Given the description of an element on the screen output the (x, y) to click on. 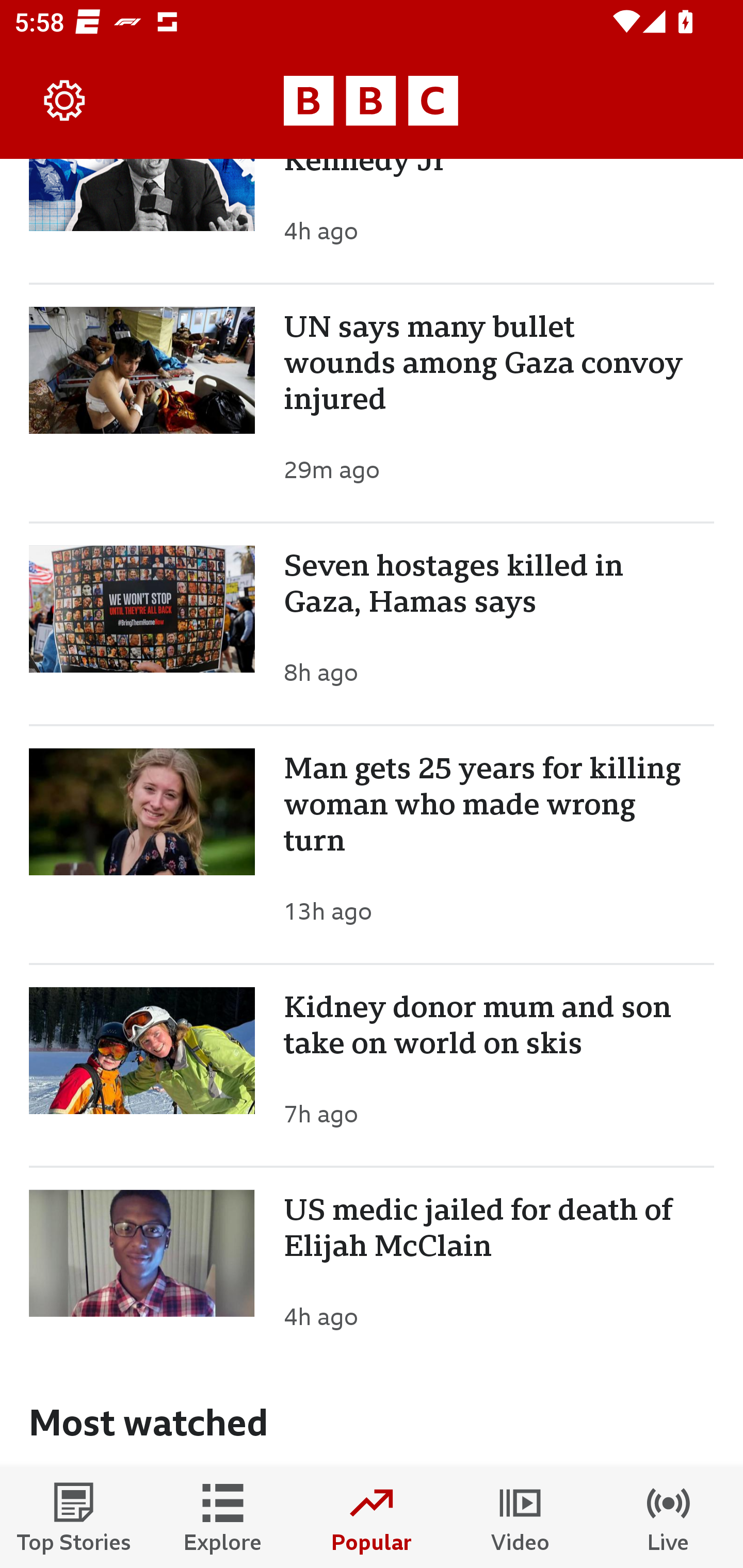
Settings (64, 100)
Top Stories (74, 1517)
Explore (222, 1517)
Video (519, 1517)
Live (668, 1517)
